Given the description of an element on the screen output the (x, y) to click on. 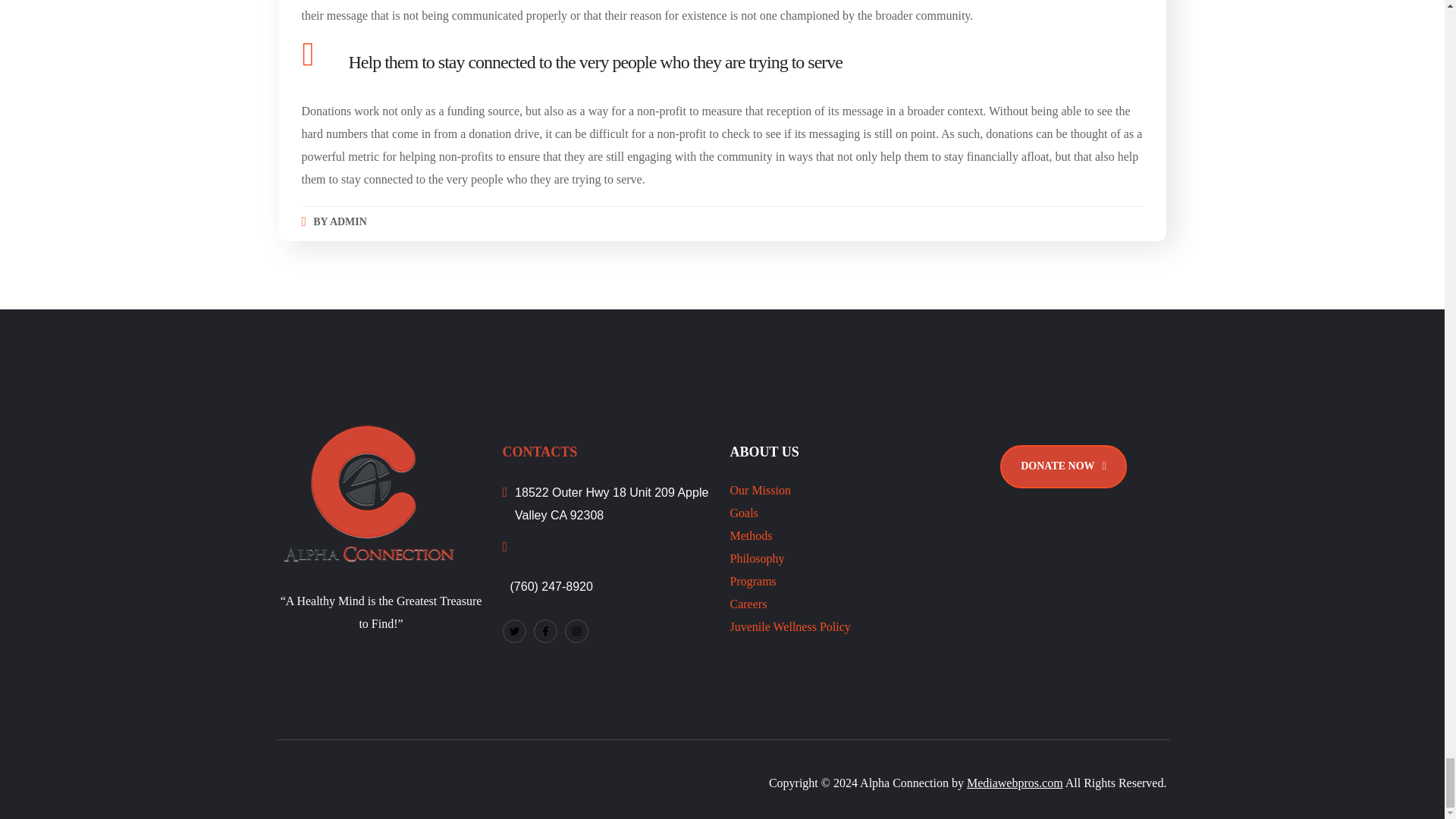
Facebook (545, 630)
Twitter (513, 630)
Instagram (576, 630)
